Given the description of an element on the screen output the (x, y) to click on. 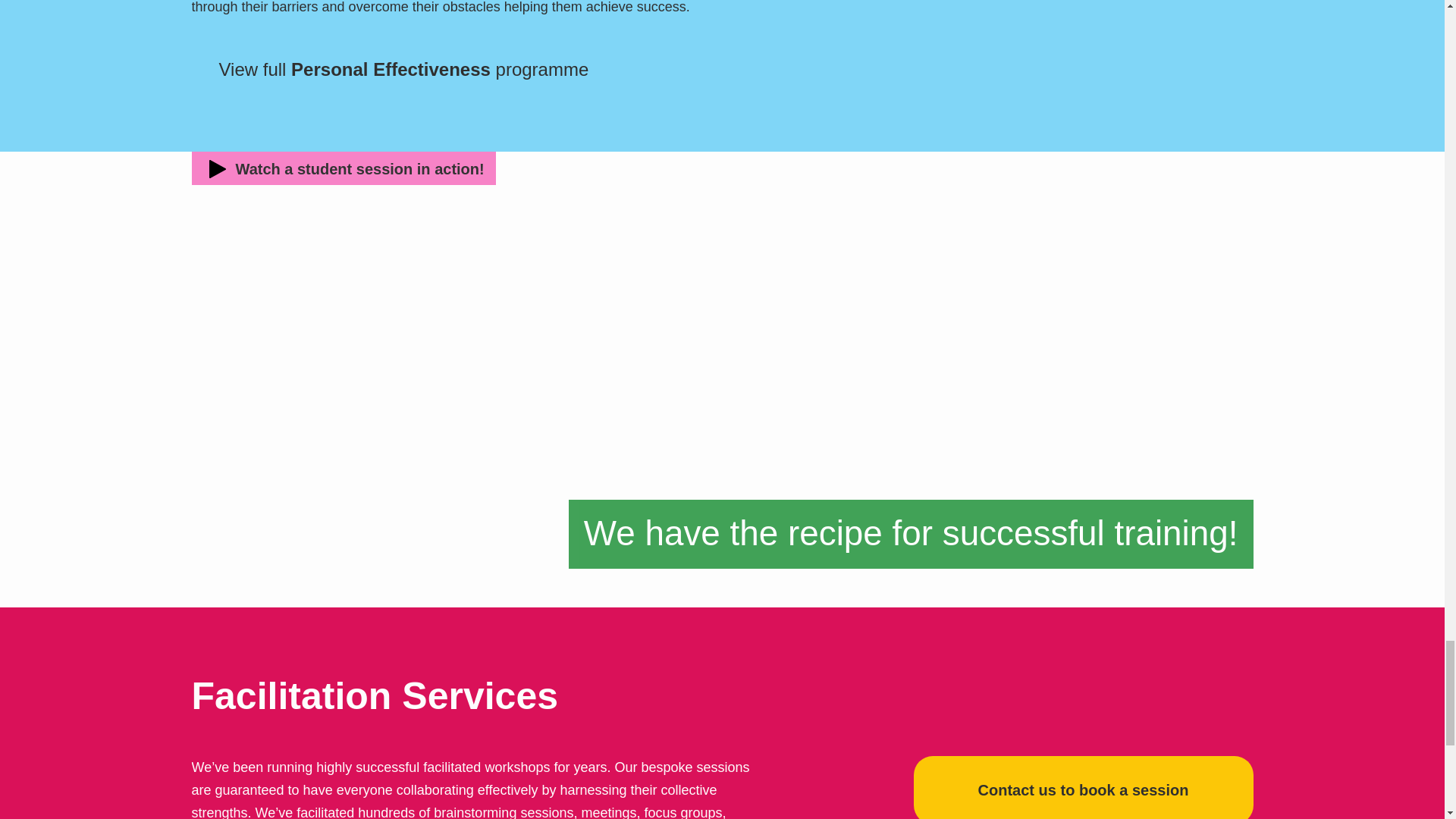
Book now (1082, 787)
